Given the description of an element on the screen output the (x, y) to click on. 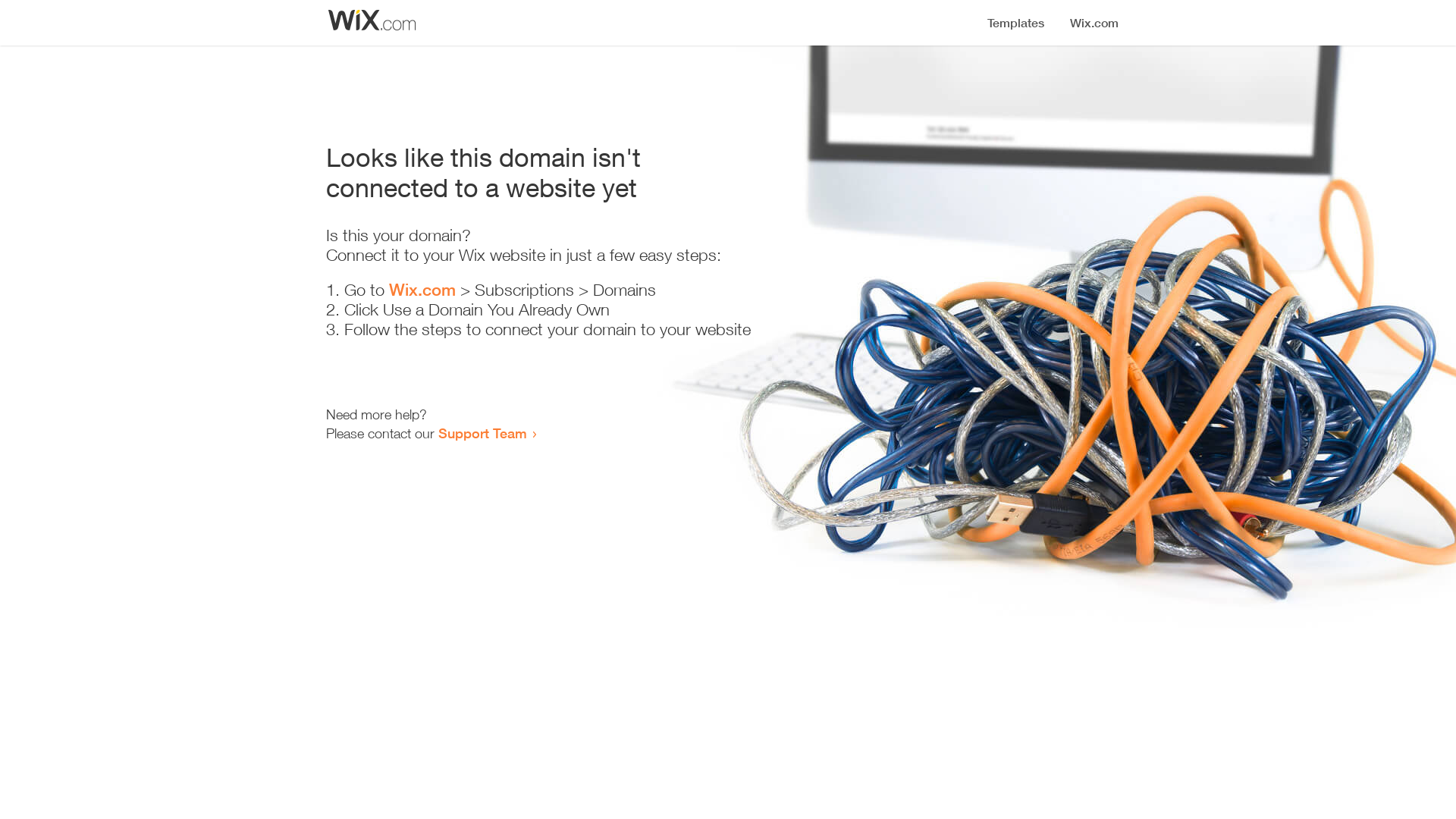
Support Team Element type: text (482, 432)
Wix.com Element type: text (422, 289)
